Given the description of an element on the screen output the (x, y) to click on. 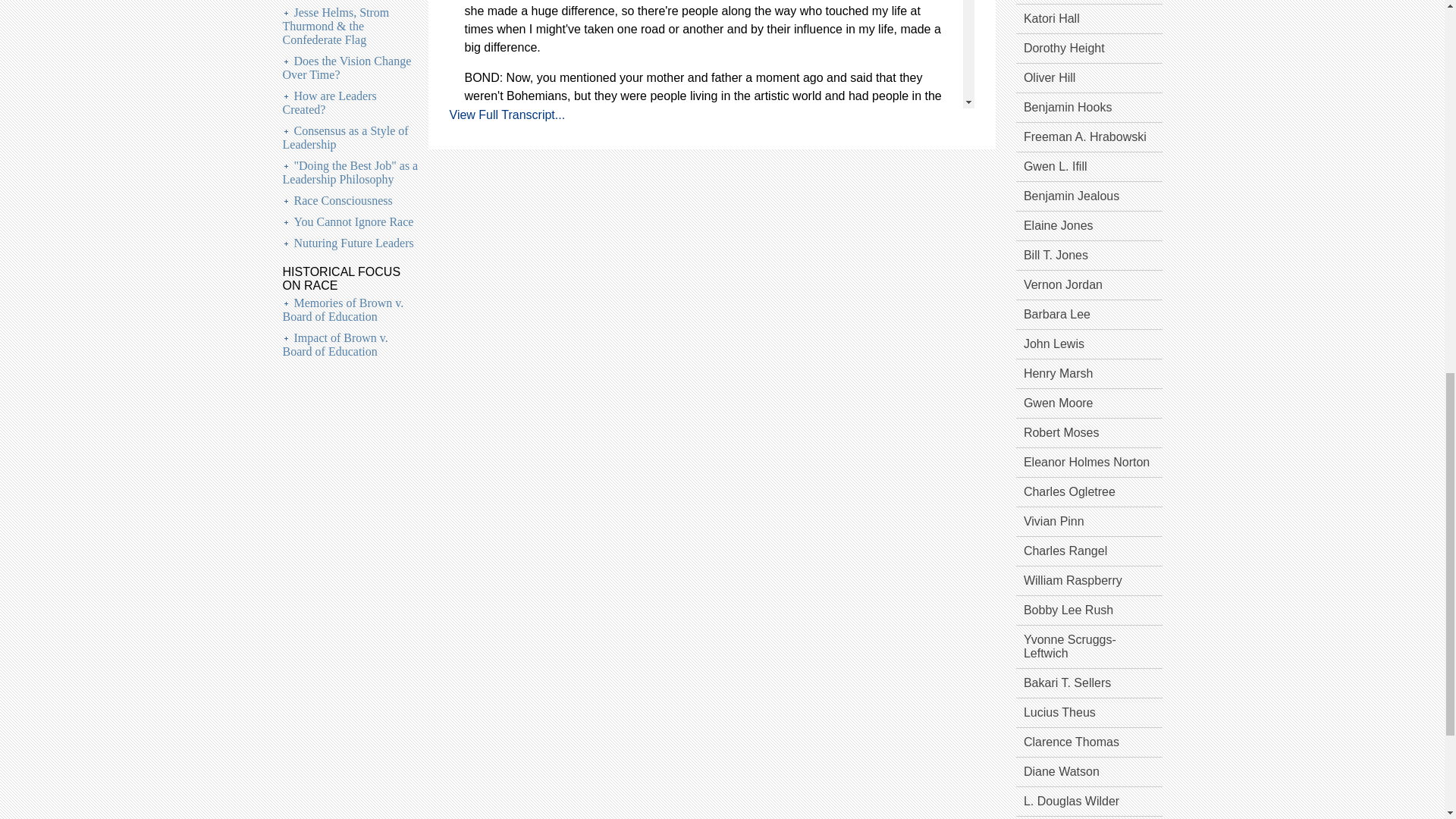
How are Leaders Created? (328, 102)
Memories of Brown v. Board of Education (342, 309)
"Doing the Best Job" as a Leadership Philosophy (349, 171)
View Full Transcript... (506, 114)
Consensus as a Style of Leadership (344, 137)
Race Consciousness (343, 200)
Impact of Brown v. Board of Education (334, 344)
Does the Vision Change Over Time? (346, 67)
Nuturing Future Leaders (353, 242)
You Cannot Ignore Race (353, 221)
